Given the description of an element on the screen output the (x, y) to click on. 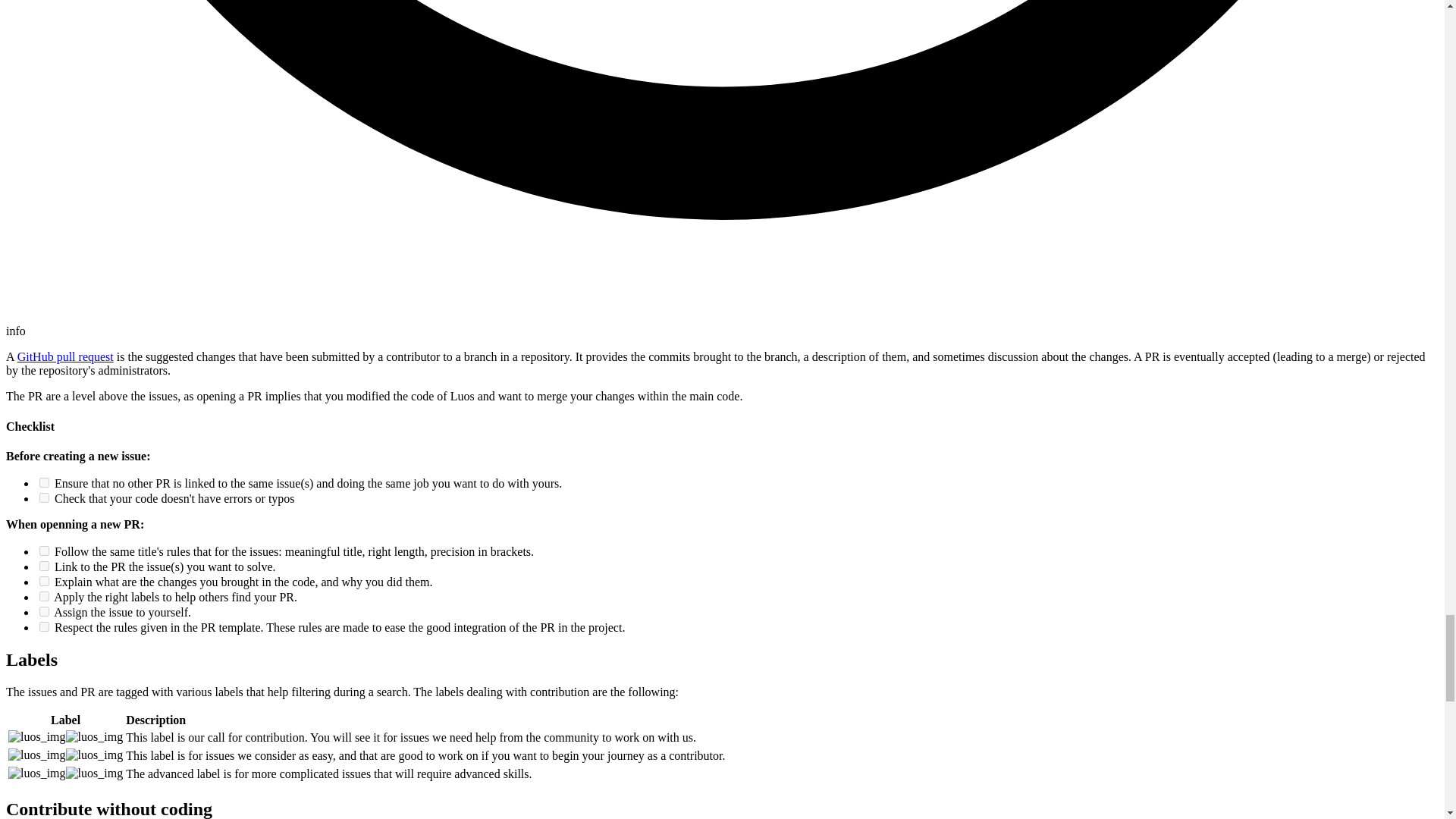
on (44, 581)
on (44, 565)
on (44, 497)
on (44, 611)
on (44, 626)
on (44, 551)
on (44, 596)
on (44, 482)
